Given the description of an element on the screen output the (x, y) to click on. 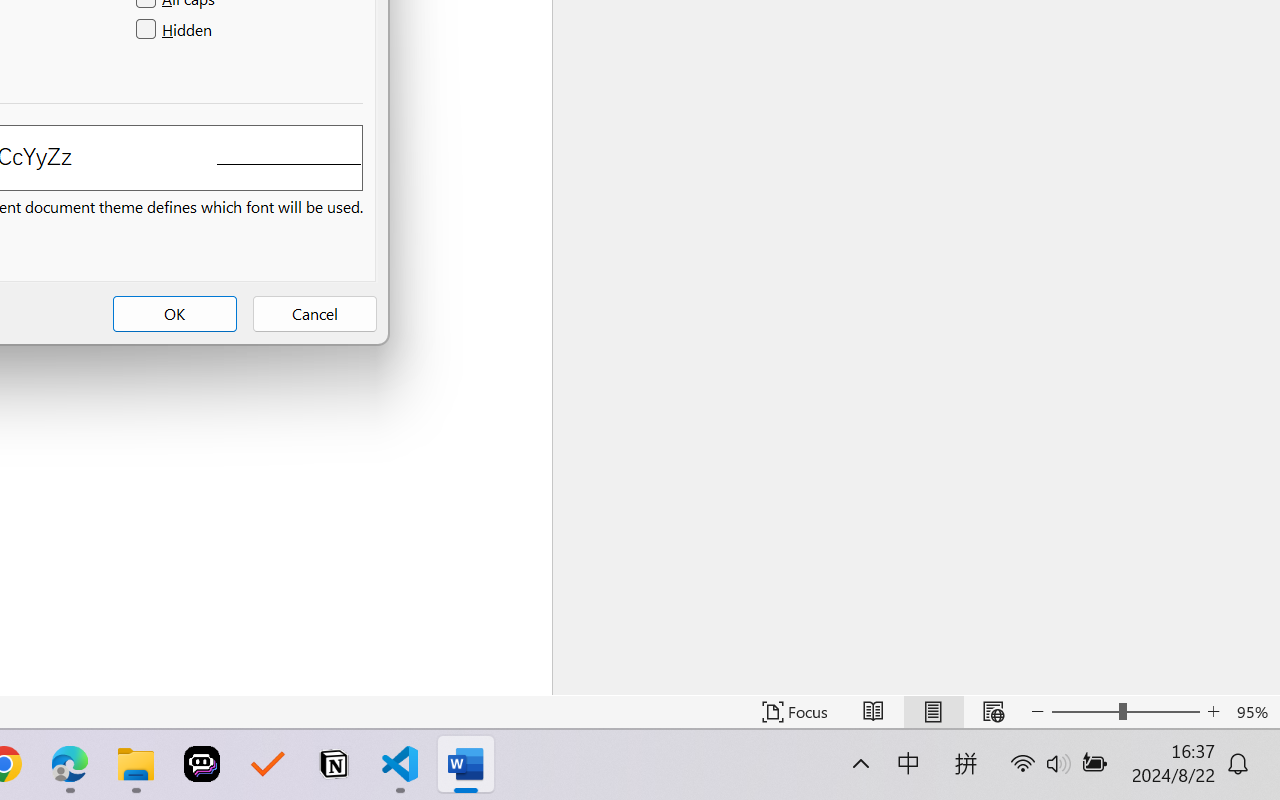
Cancel (314, 313)
